Given the description of an element on the screen output the (x, y) to click on. 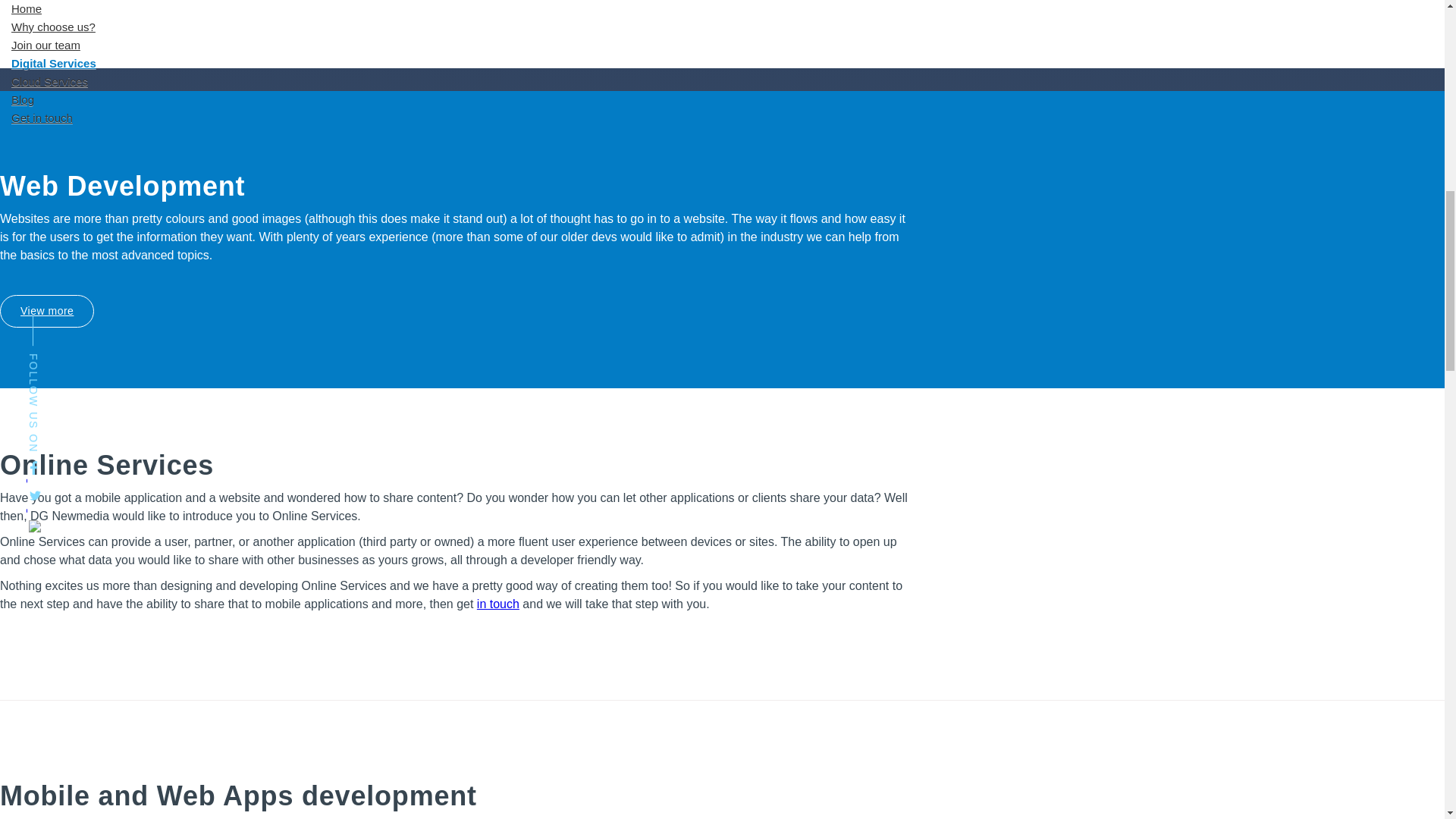
View more (47, 310)
in touch (498, 603)
